Given the description of an element on the screen output the (x, y) to click on. 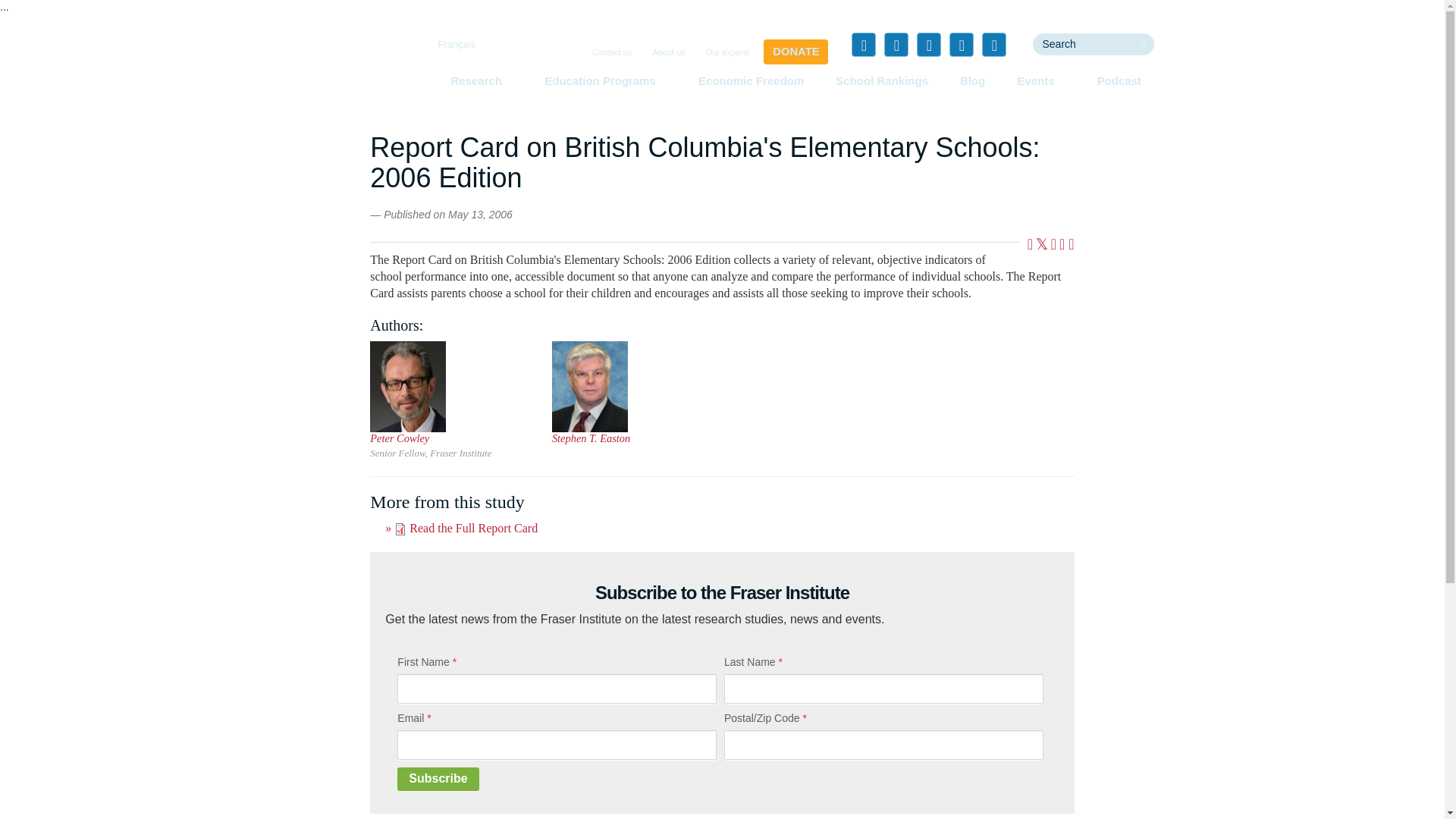
Instagram (993, 44)
About us (668, 52)
Our experts (727, 52)
DONATE (795, 51)
Contact us (612, 52)
Facebook (863, 44)
Enter the terms you wish to search for. (1082, 44)
School Rankings (882, 80)
YouTube (961, 44)
LinkedIn (928, 44)
Research (481, 80)
Twitter (895, 44)
Home (352, 71)
